Given the description of an element on the screen output the (x, y) to click on. 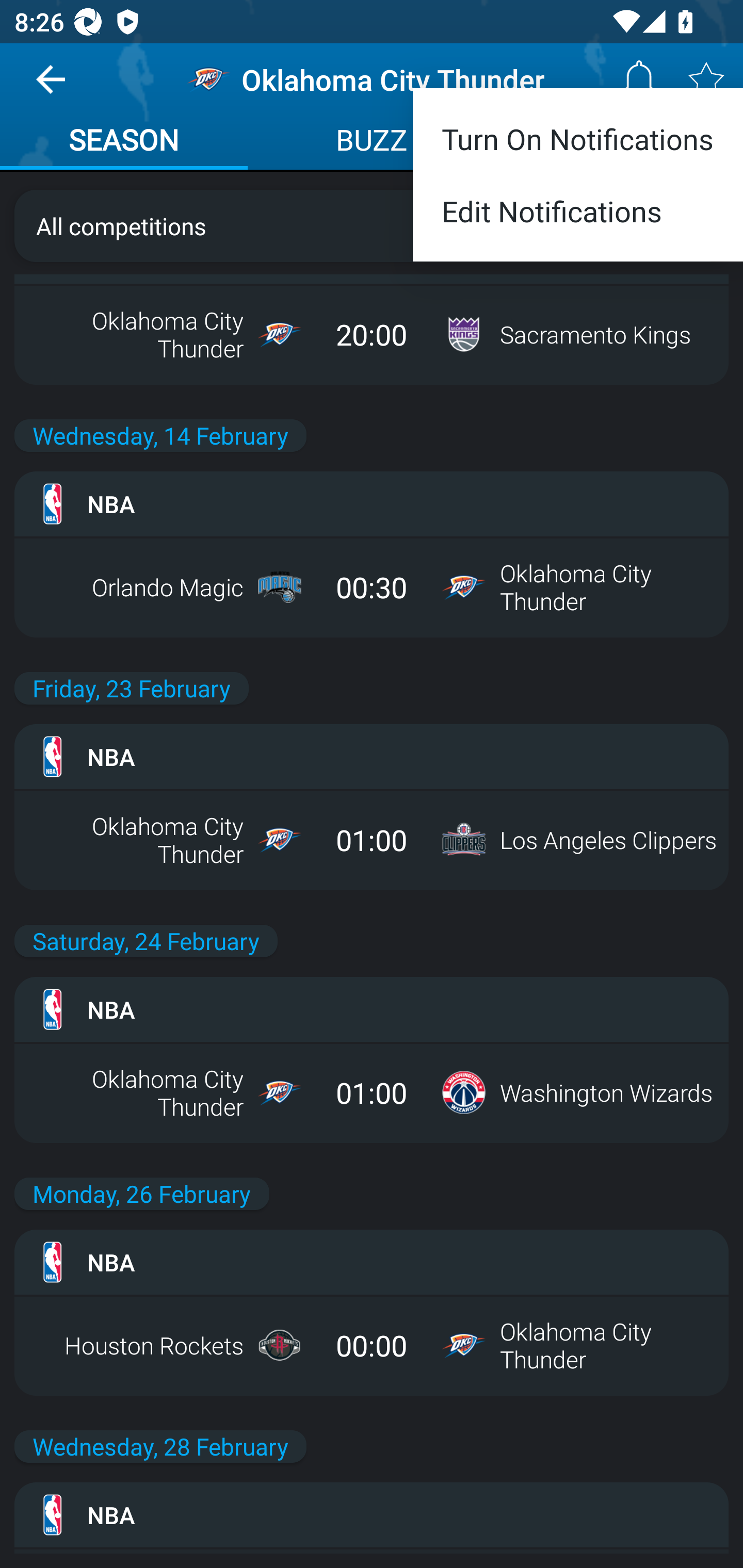
Turn On Notifications (578, 131)
Edit Notifications (578, 218)
